Given the description of an element on the screen output the (x, y) to click on. 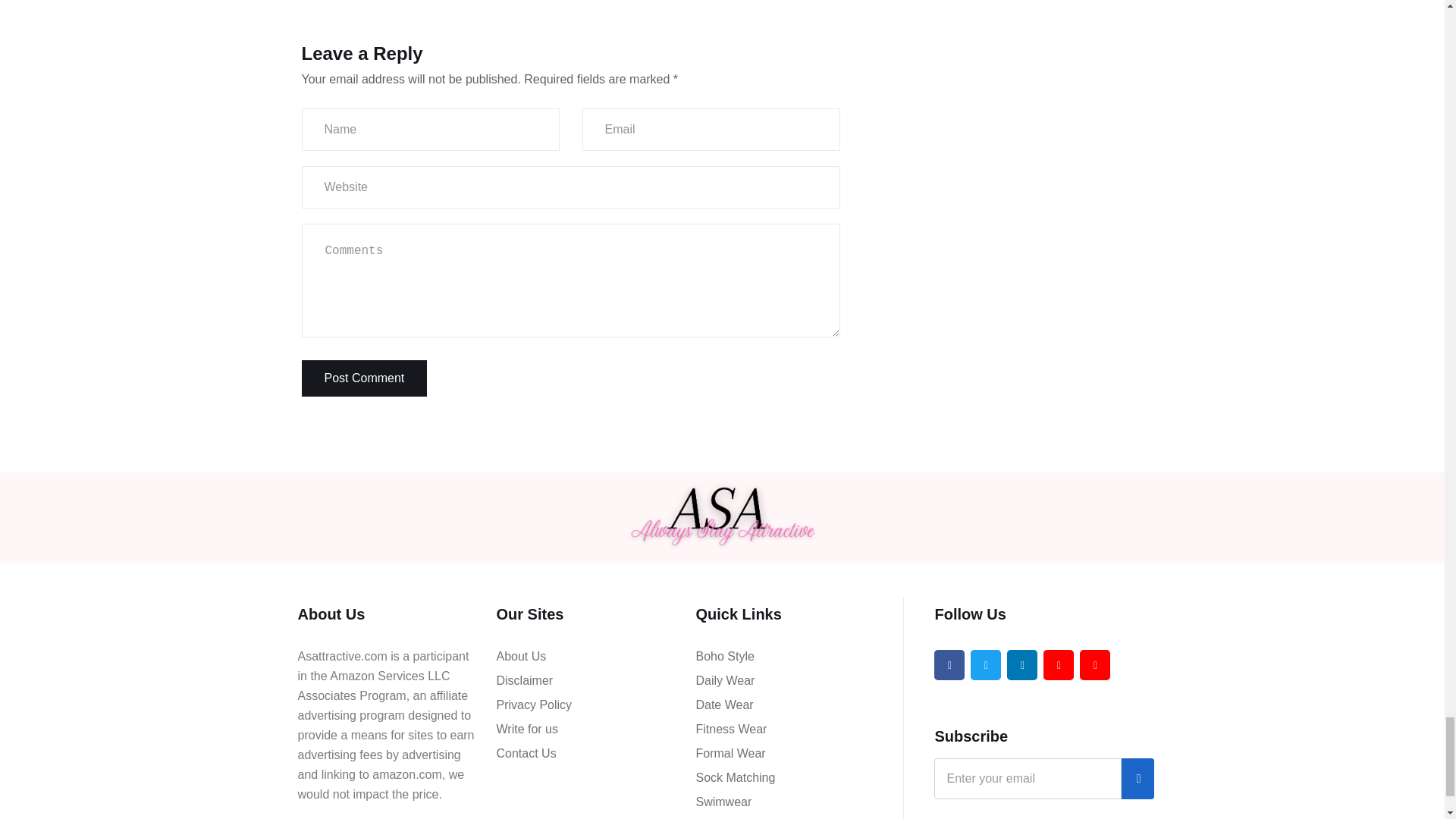
Post Comment (364, 378)
